Given the description of an element on the screen output the (x, y) to click on. 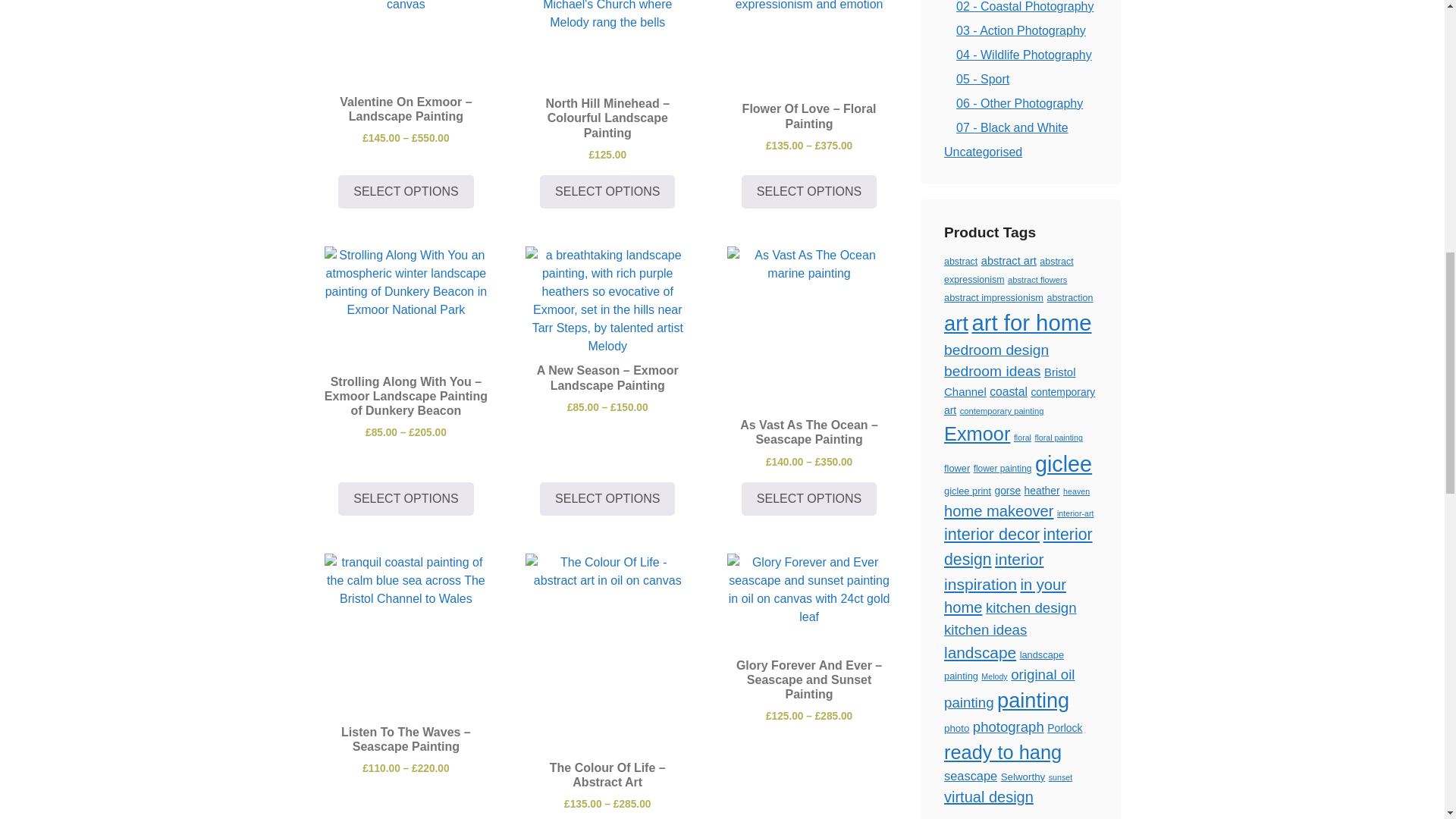
SELECT OPTIONS (808, 498)
Scroll back to top (1406, 720)
SELECT OPTIONS (405, 498)
SELECT OPTIONS (405, 191)
SELECT OPTIONS (607, 498)
SELECT OPTIONS (808, 191)
SELECT OPTIONS (607, 191)
